Given the description of an element on the screen output the (x, y) to click on. 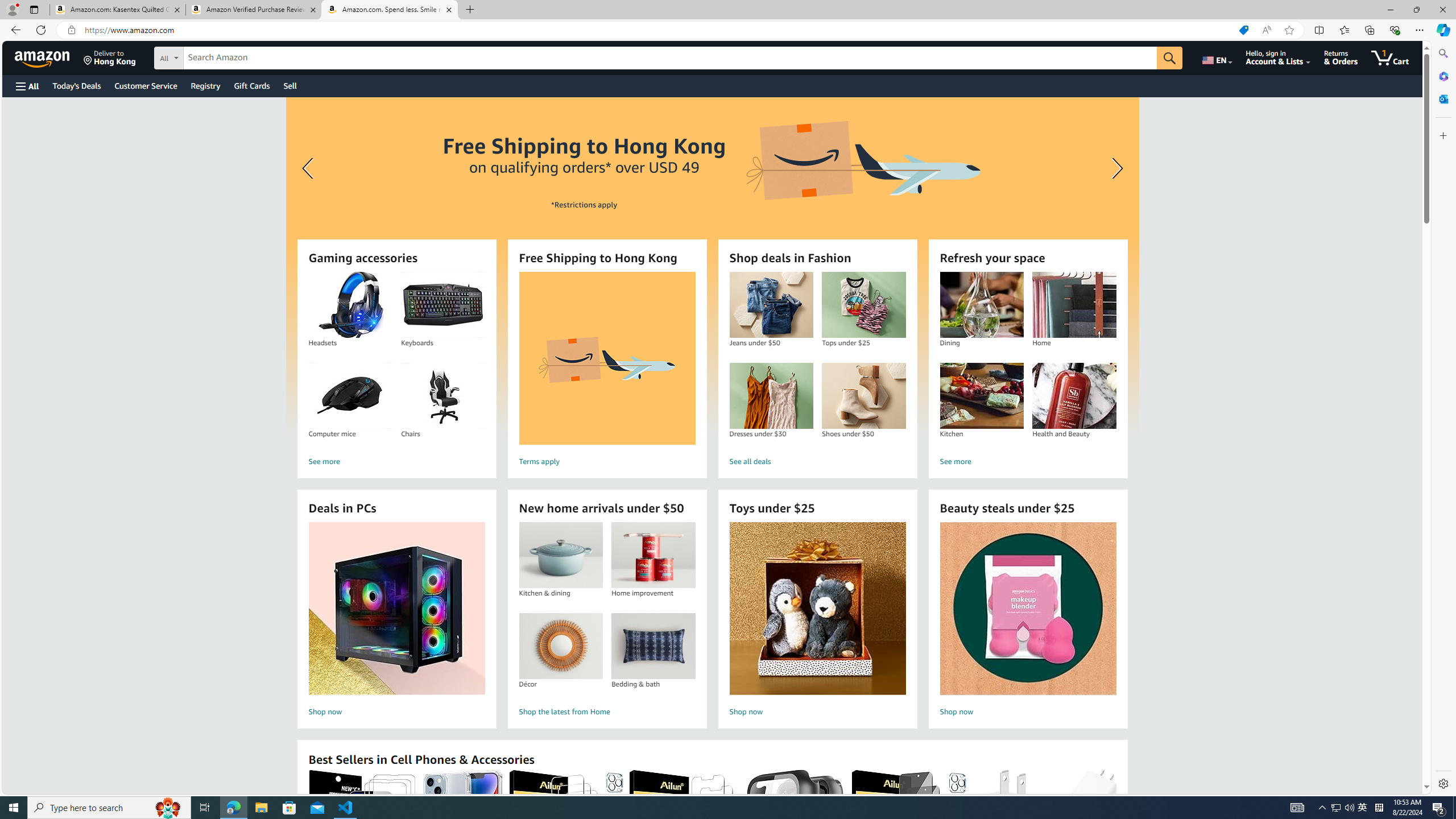
Beauty steals under $25 Shop now (1028, 620)
Hello, sign in Account & Lists (1278, 57)
Tops under $25 (863, 304)
Deliver to Hong Kong (109, 57)
Shop the latest from Home (606, 712)
Amazon.com. Spend less. Smile more. (390, 9)
Keyboards (443, 304)
Class: a-carousel-card (711, 267)
